Given the description of an element on the screen output the (x, y) to click on. 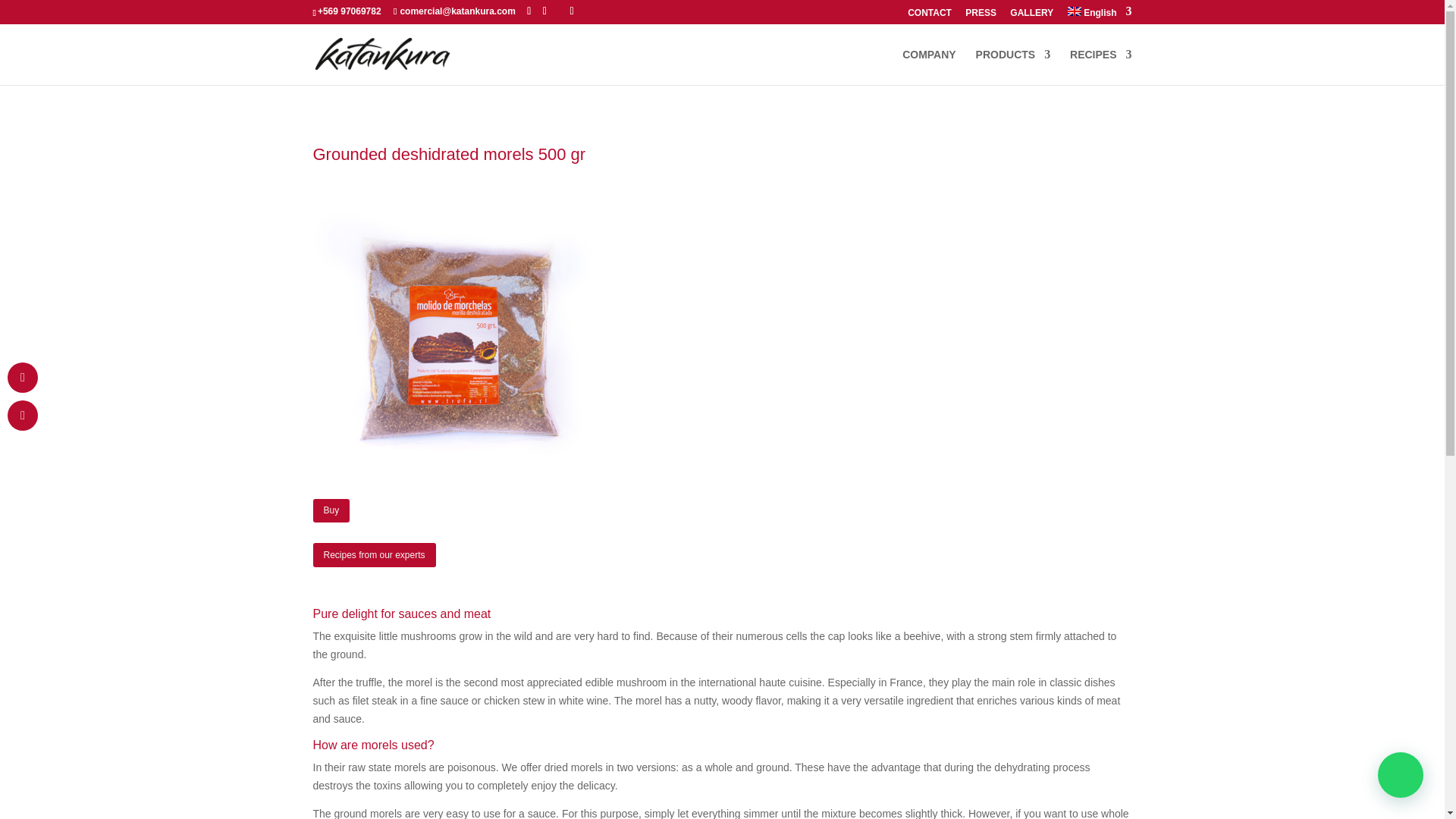
GALLERY (1031, 16)
CONTACT (929, 16)
PRODUCTS (1013, 67)
RECIPES (1100, 67)
PRESS (980, 16)
English (1099, 15)
English (1099, 15)
COMPANY (929, 67)
